Given the description of an element on the screen output the (x, y) to click on. 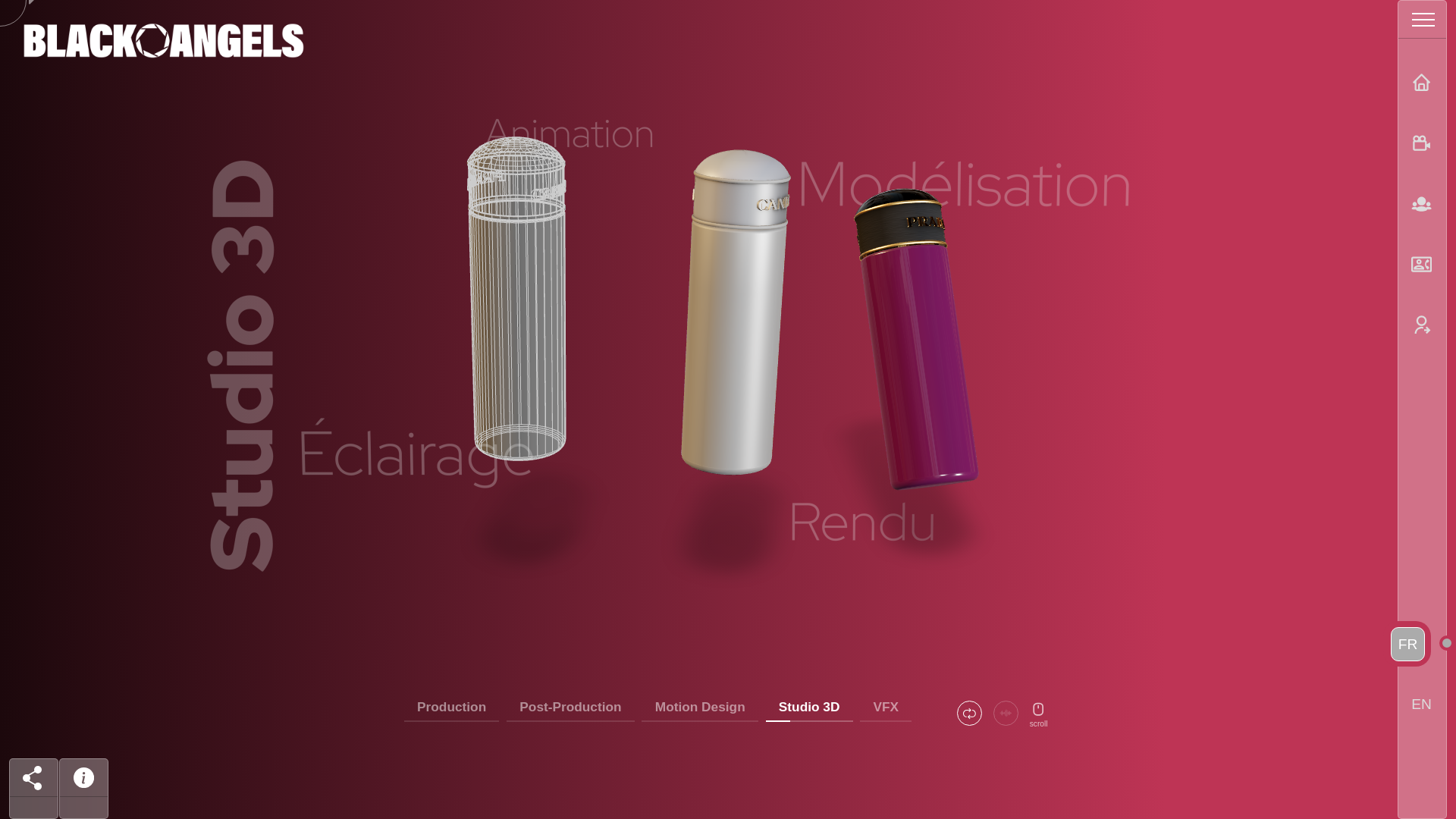
Contact Element type: hover (1421, 265)
Connexion Element type: hover (1421, 326)
Productions Element type: hover (1421, 144)
Accueil Element type: hover (1421, 83)
Audio Element type: hover (1005, 712)
Loop Element type: hover (969, 712)
